Given the description of an element on the screen output the (x, y) to click on. 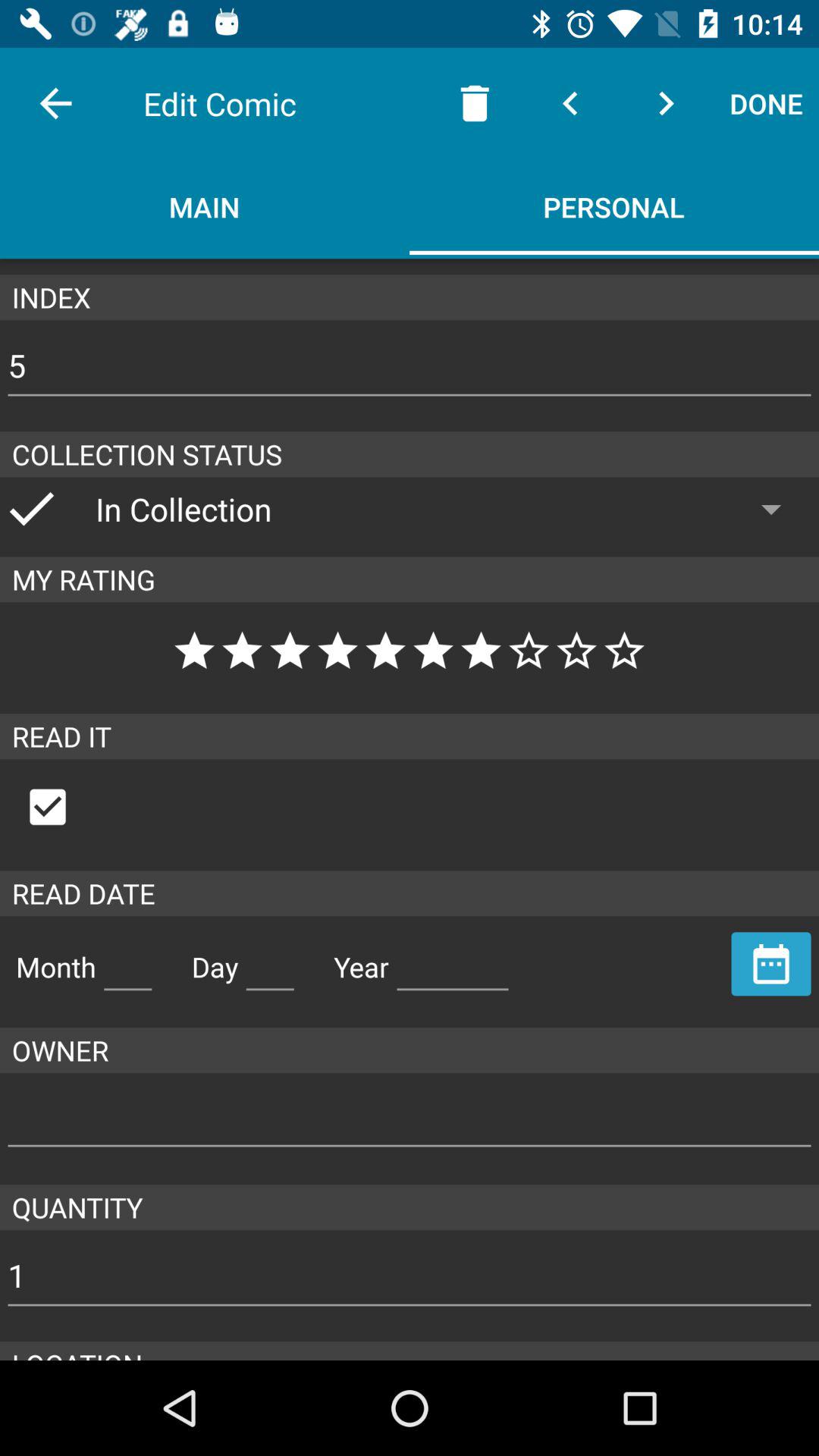
toggle calendar (771, 963)
